Given the description of an element on the screen output the (x, y) to click on. 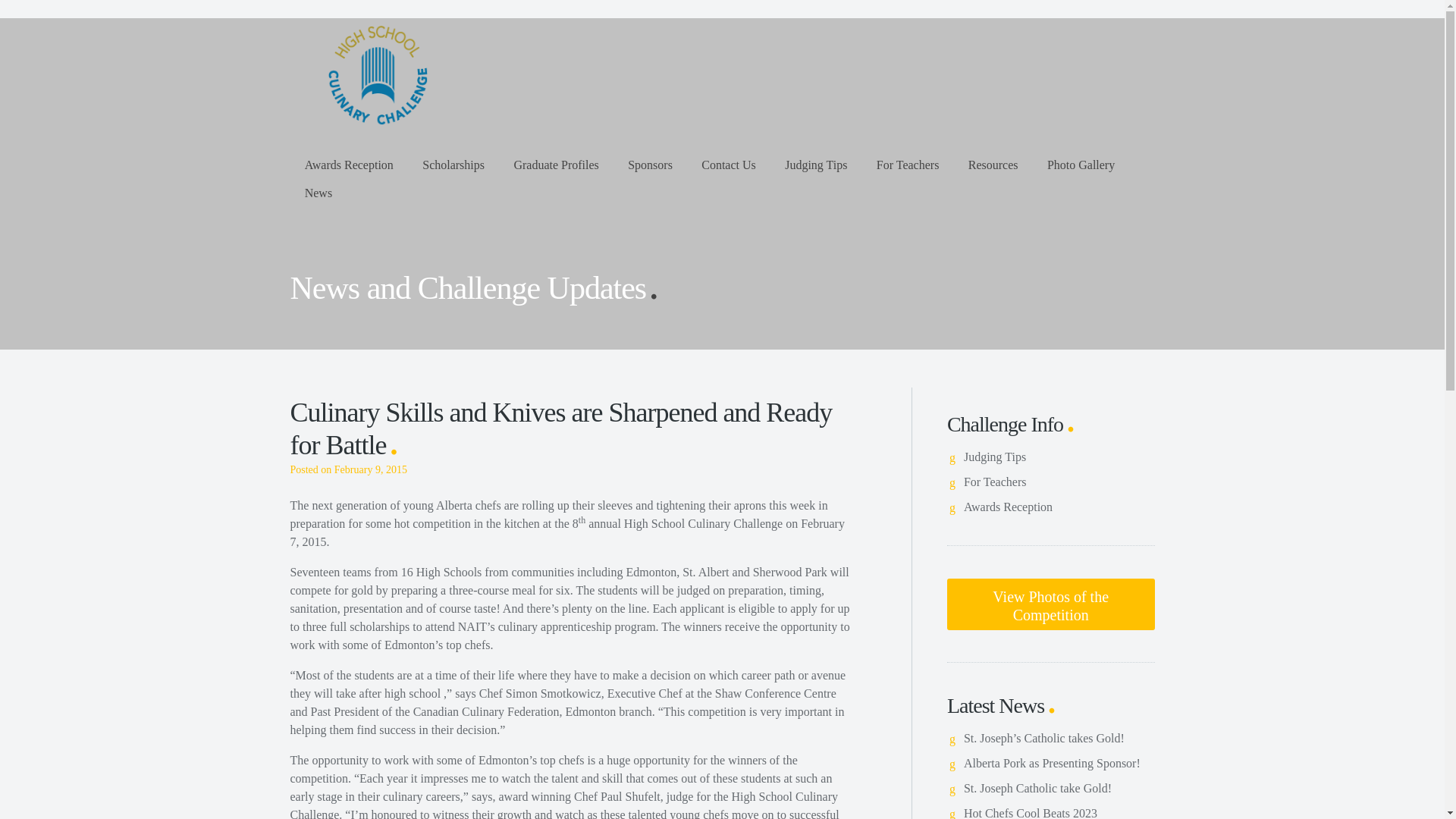
For Teachers (907, 163)
Sponsors (649, 163)
Judging Tips (815, 163)
Scholarships (453, 163)
Awards Reception (348, 163)
For Teachers (994, 481)
Hot Chefs Cool Beats 2023 (1030, 812)
Contact Us (728, 163)
Alberta Pork as Presenting Sponsor! (1051, 762)
Judging Tips (994, 456)
